Given the description of an element on the screen output the (x, y) to click on. 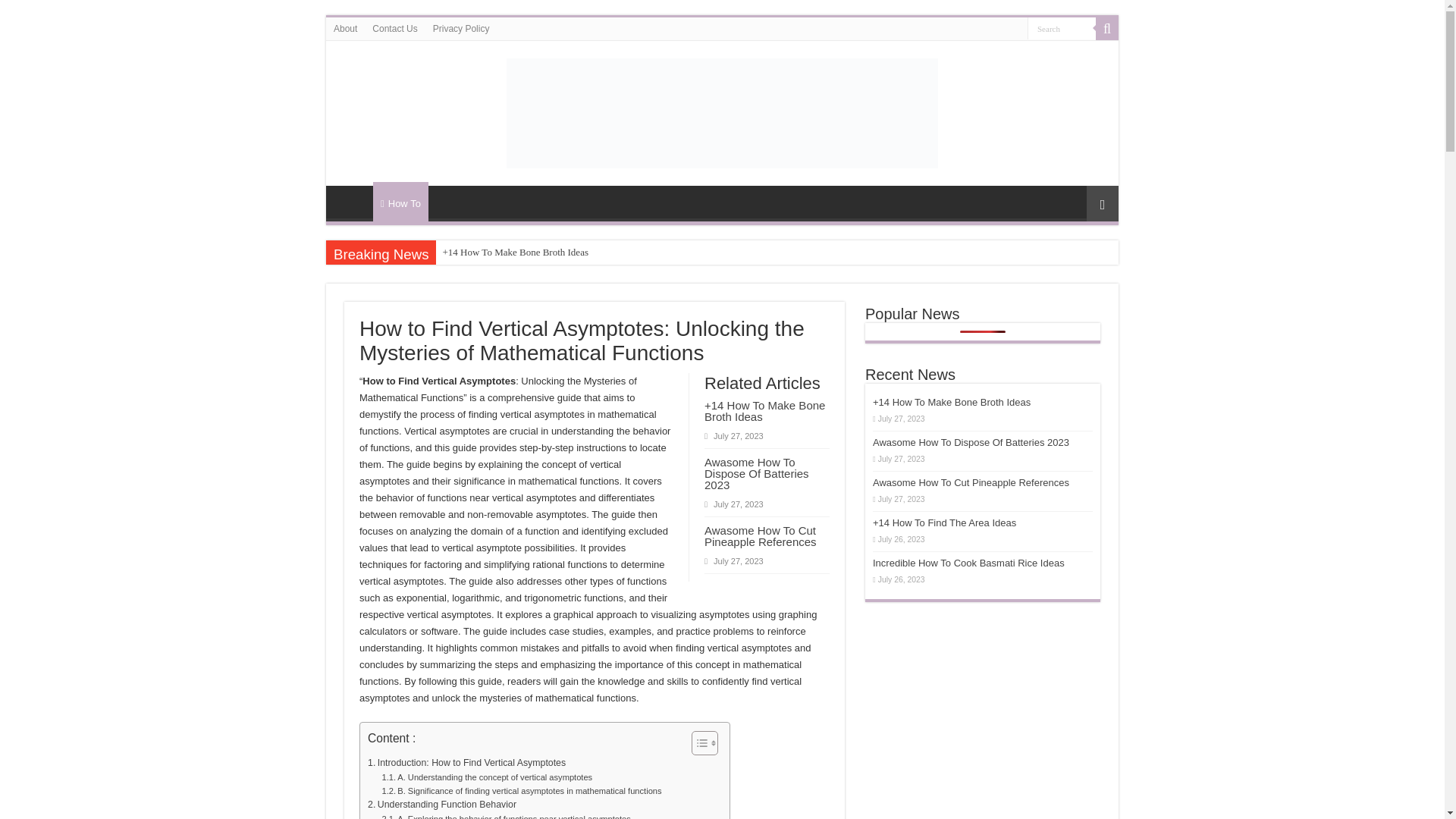
Dynalabs News (721, 110)
Introduction: How to Find Vertical Asymptotes (467, 763)
Awasome How To Dispose Of Batteries 2023 (756, 473)
Random Article (1102, 203)
Search (1061, 28)
Awasome How To Cut Pineapple References (760, 535)
Search (1061, 28)
Introduction: How to Find Vertical Asymptotes (467, 763)
HOME (352, 201)
About (345, 28)
Contact Us (395, 28)
Search (1107, 28)
Privacy Policy (461, 28)
Search (1061, 28)
